Given the description of an element on the screen output the (x, y) to click on. 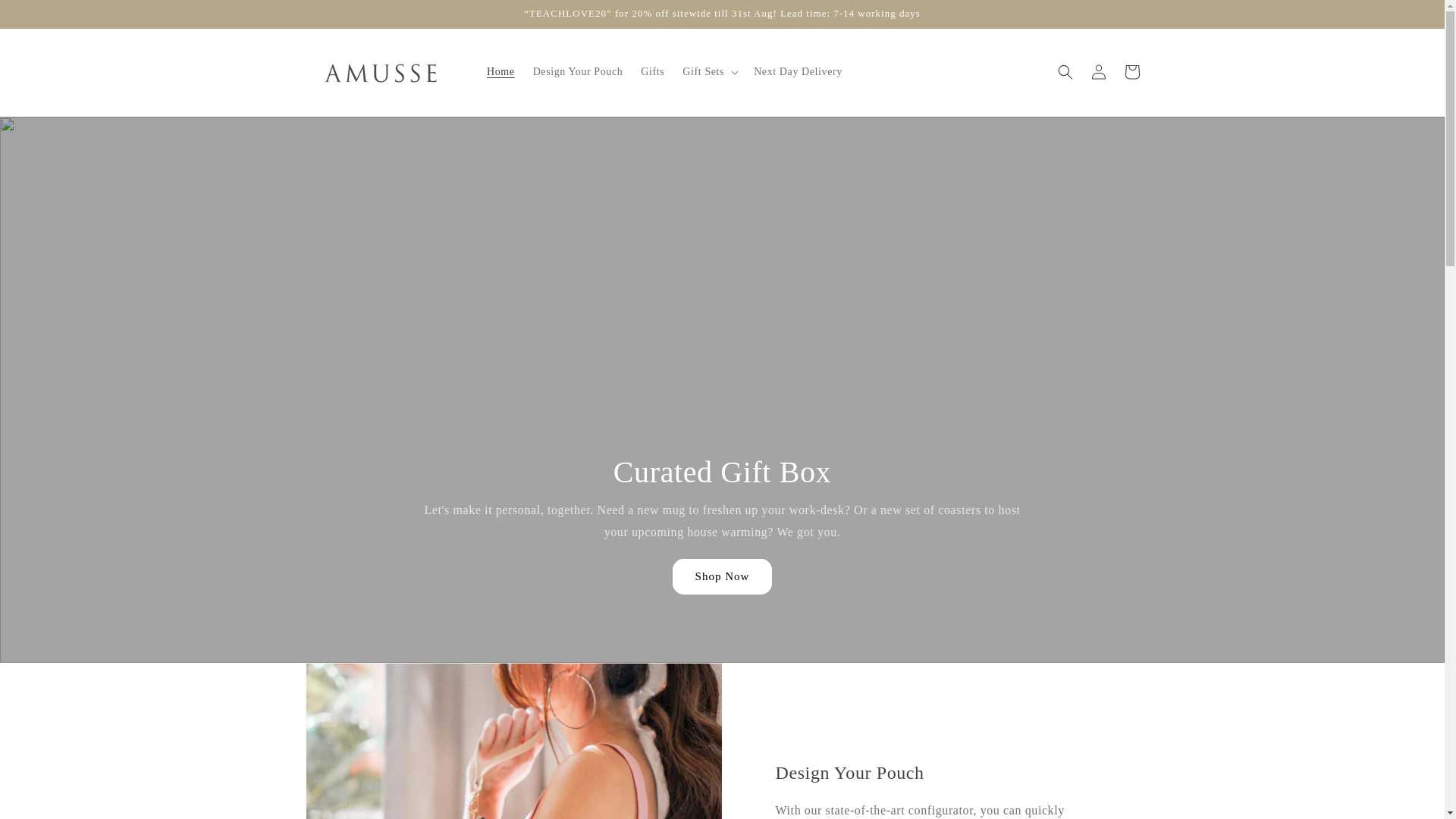
Next Day Delivery (797, 71)
Skip to content (45, 17)
Home (500, 71)
Shop Now (722, 576)
Log in (1098, 71)
Gifts (651, 71)
Design Your Pouch (577, 71)
Cart (1131, 71)
